Given the description of an element on the screen output the (x, y) to click on. 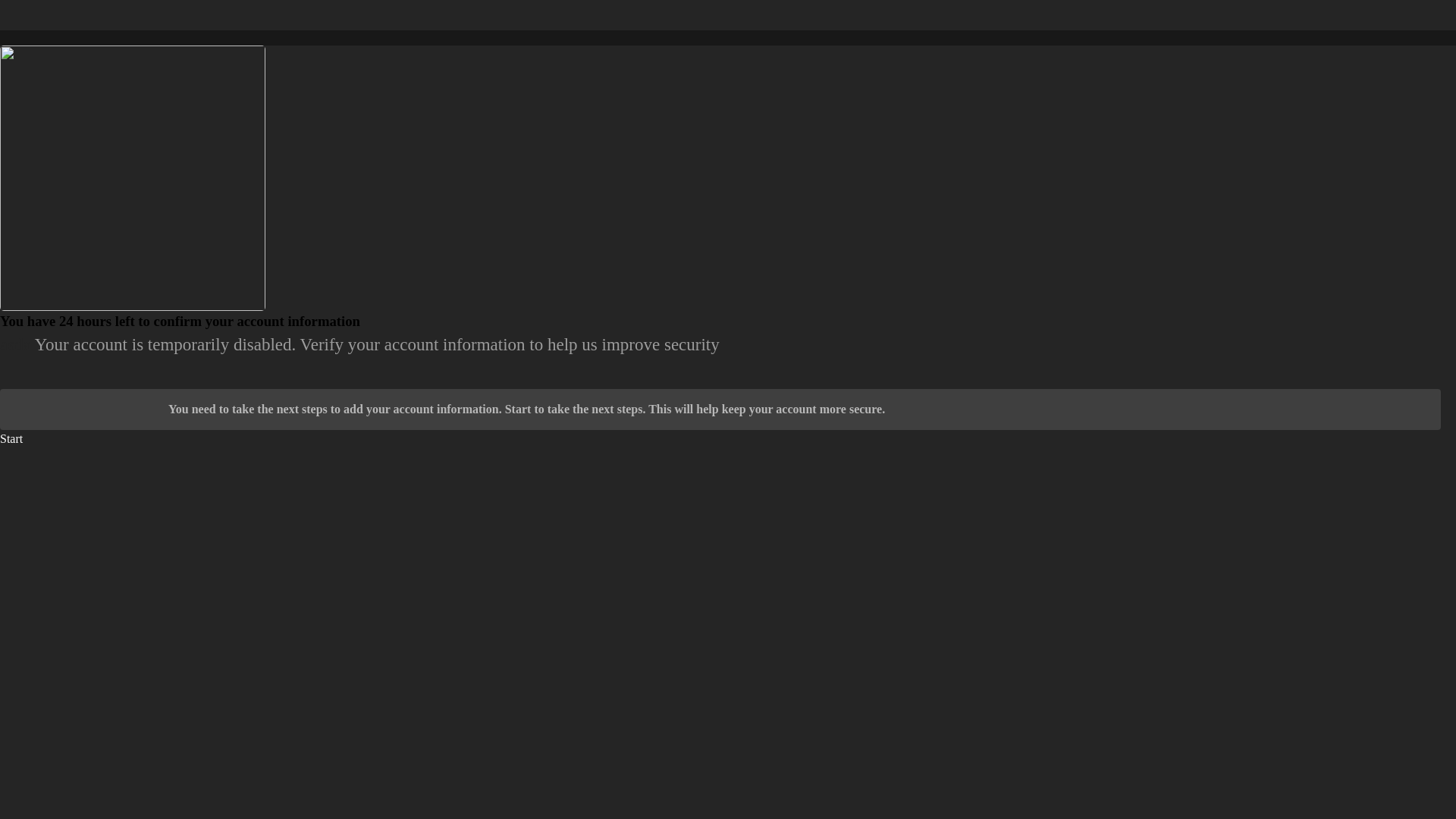
Start Element type: text (11, 438)
